Given the description of an element on the screen output the (x, y) to click on. 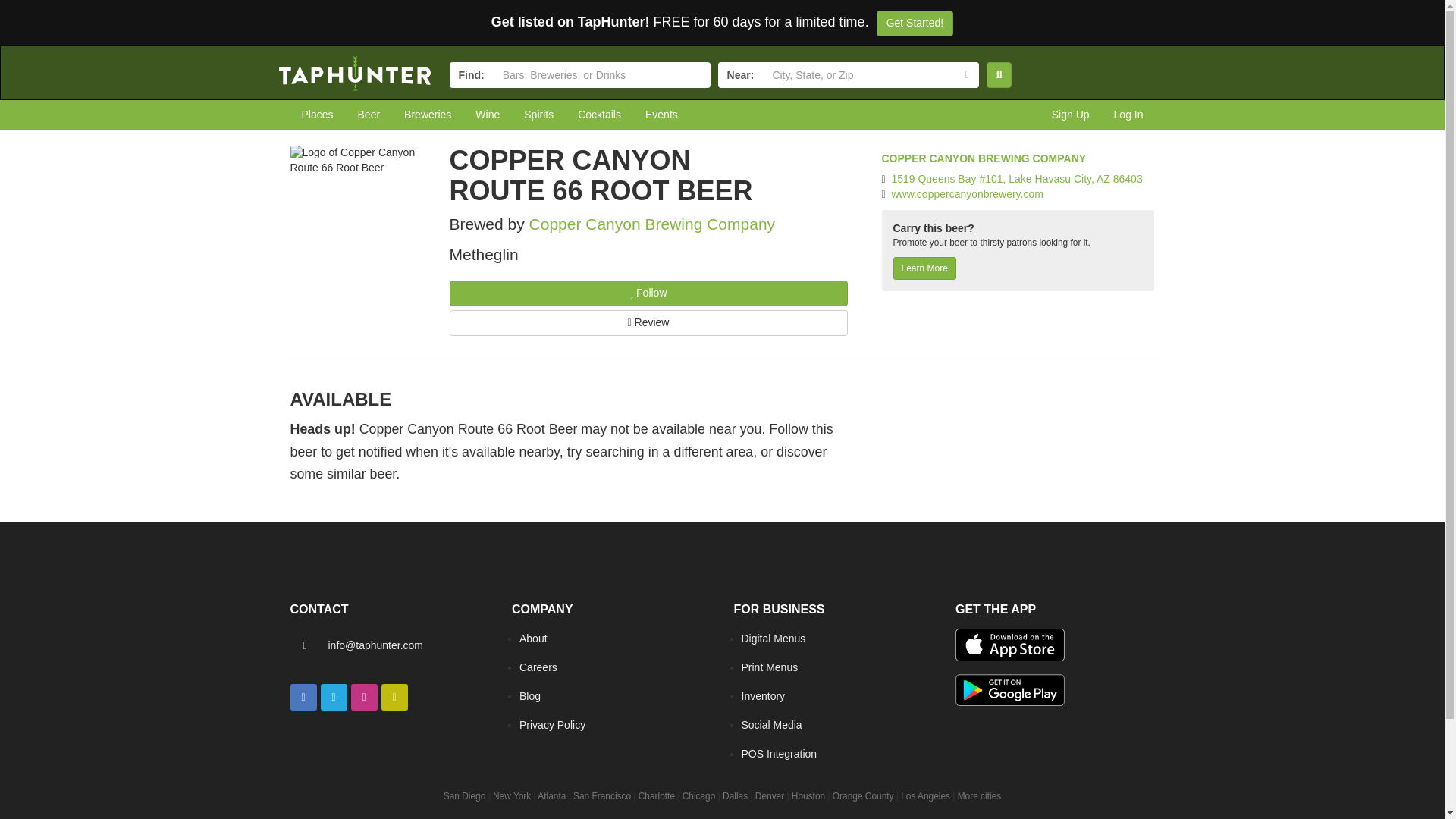
Blog (529, 695)
Beer (368, 114)
Wine (487, 114)
Cocktails (598, 114)
Copper Canyon Brewing Company (652, 223)
Careers (538, 666)
Places (316, 114)
POS Integration (778, 753)
About (533, 638)
Spirits (538, 114)
San Diego (465, 796)
Download on the AppStore (1009, 644)
COPPER CANYON BREWING COMPANY (983, 158)
Login and follow  (630, 293)
Learn More (924, 268)
